Given the description of an element on the screen output the (x, y) to click on. 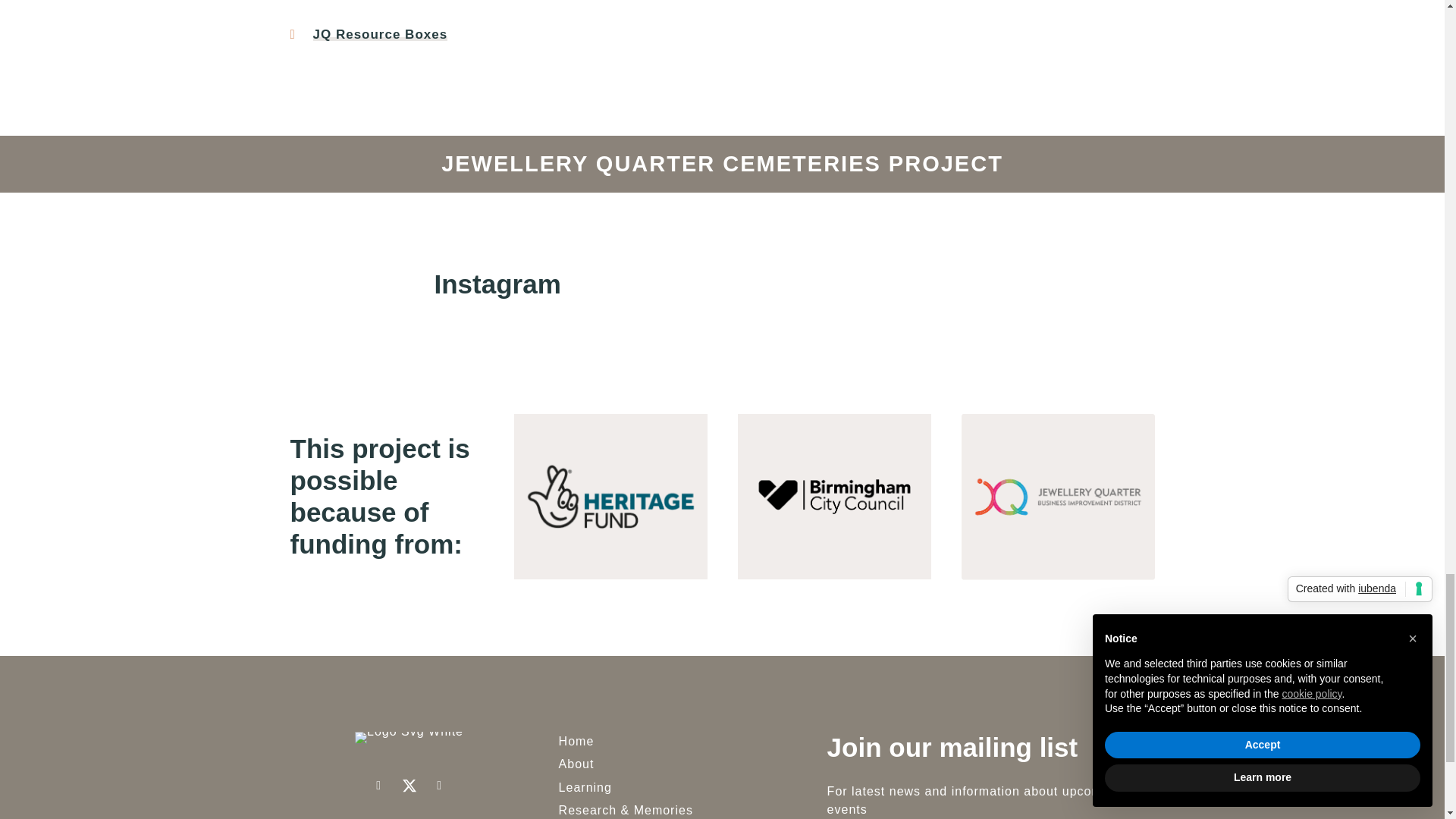
Bm (833, 496)
Herirage (610, 496)
Logo Svg White (409, 737)
Jq (1057, 496)
